Given the description of an element on the screen output the (x, y) to click on. 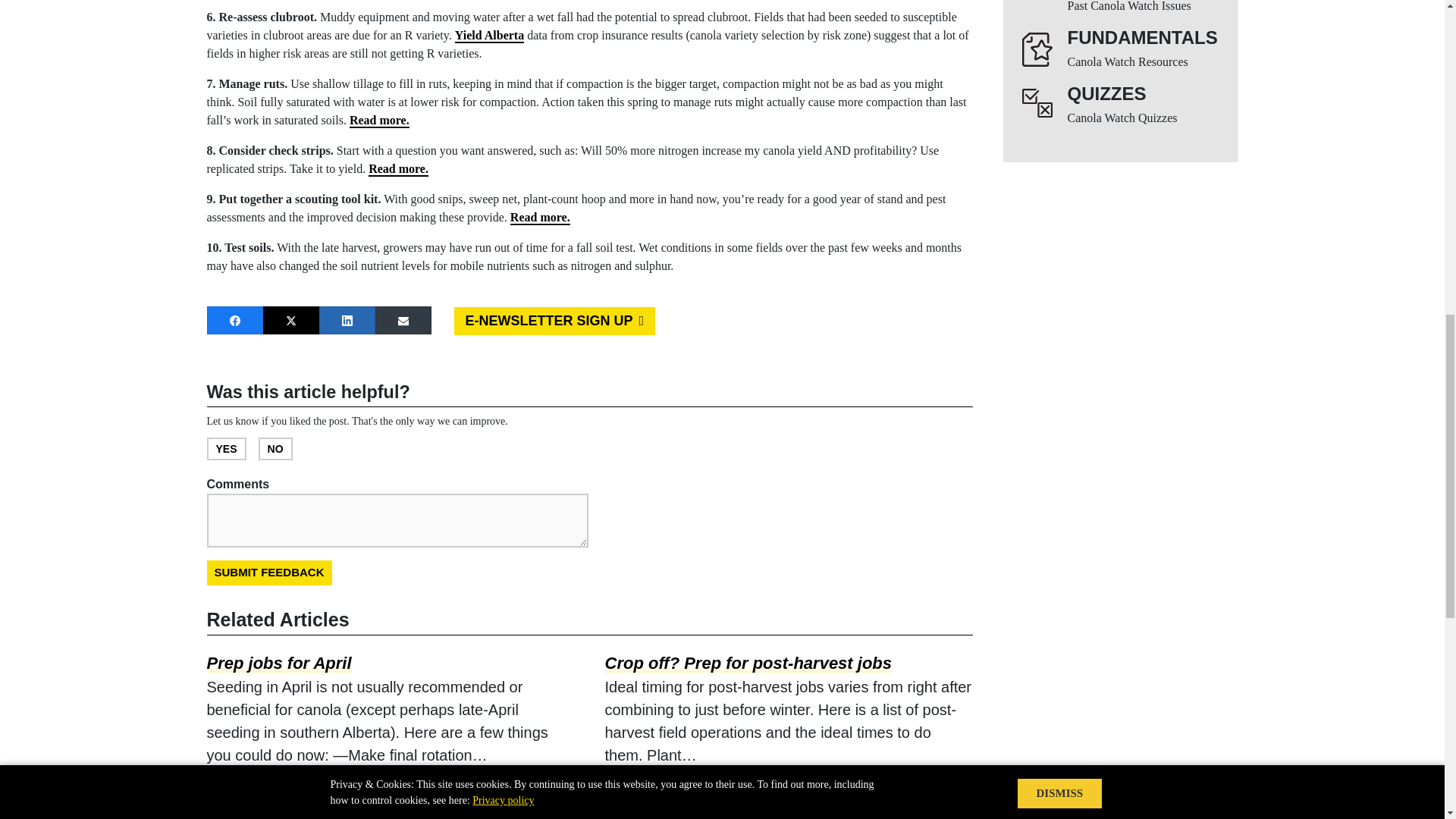
Submit Feedback (268, 572)
